Given the description of an element on the screen output the (x, y) to click on. 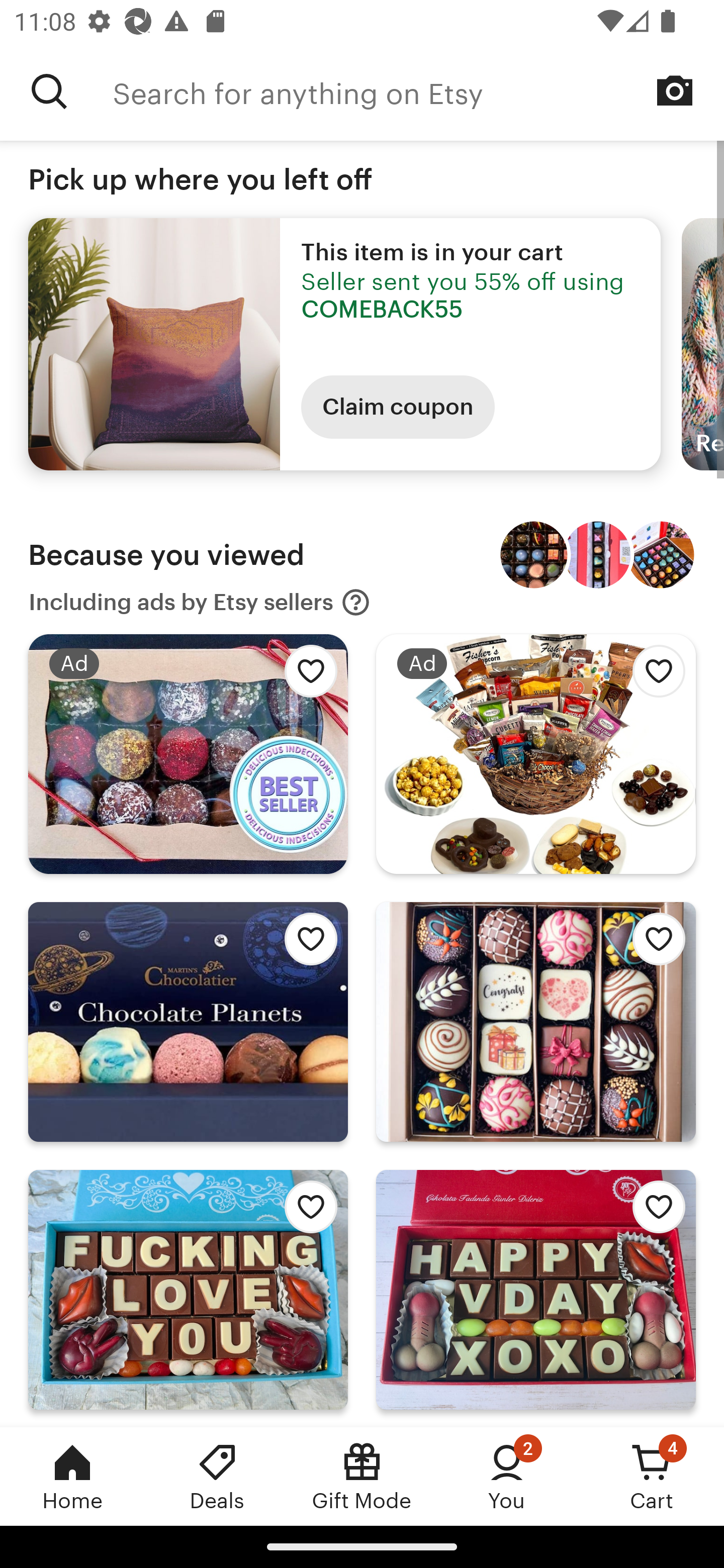
Search for anything on Etsy (49, 91)
Search by image (674, 90)
Search for anything on Etsy (418, 91)
Claim coupon (397, 407)
Including ads by Etsy sellers (199, 601)
Deals (216, 1475)
Gift Mode (361, 1475)
You, 2 new notifications You (506, 1475)
Cart, 4 new notifications Cart (651, 1475)
